Given the description of an element on the screen output the (x, y) to click on. 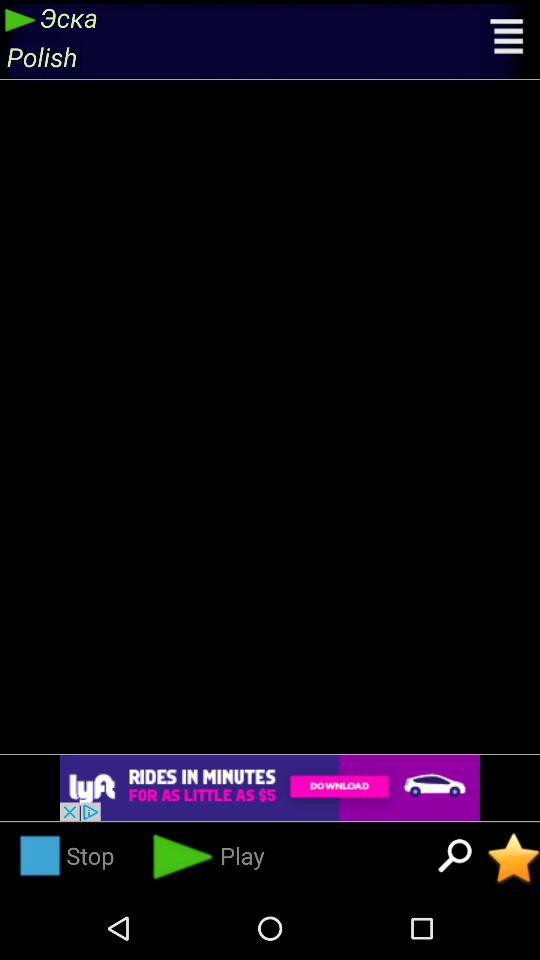
click in hamburger to open menu (508, 39)
